Given the description of an element on the screen output the (x, y) to click on. 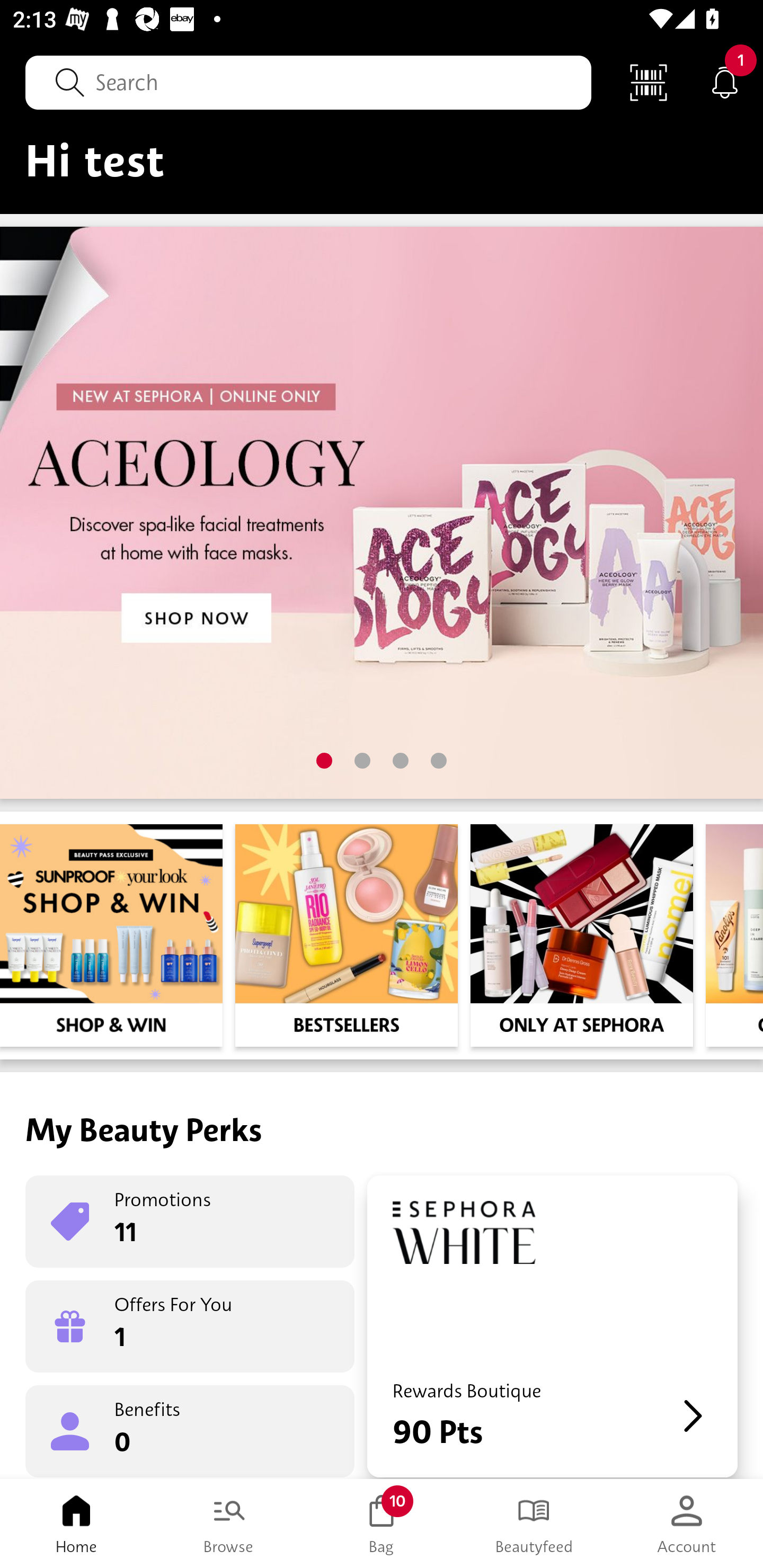
Scan Code (648, 81)
Notifications (724, 81)
Search (308, 81)
Promotions 11 (189, 1221)
Rewards Boutique 90 Pts (552, 1326)
Offers For You 1 (189, 1326)
Benefits 0 (189, 1430)
Browse (228, 1523)
Bag 10 Bag (381, 1523)
Beautyfeed (533, 1523)
Account (686, 1523)
